Given the description of an element on the screen output the (x, y) to click on. 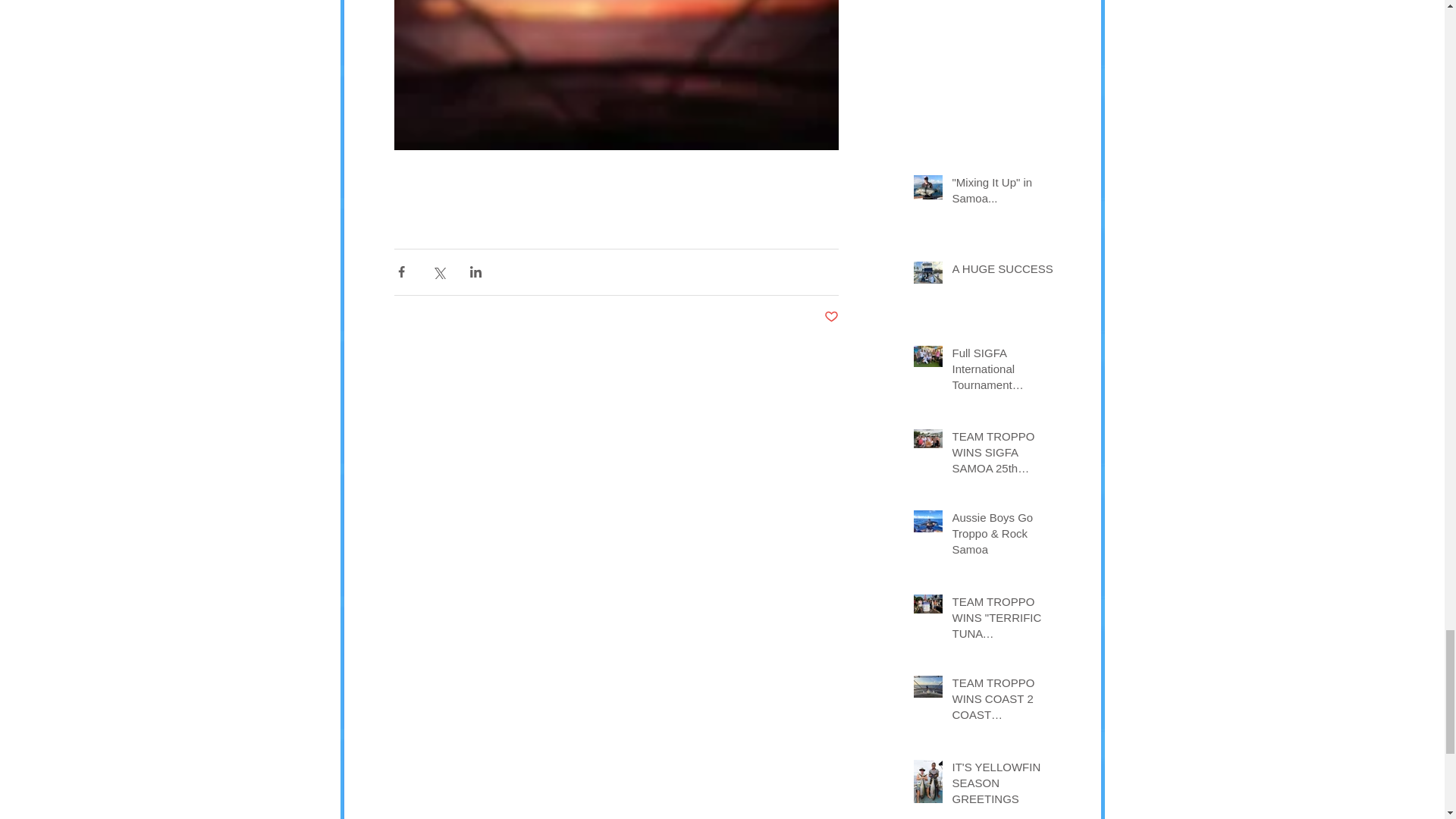
"Mixing It Up" in Samoa... (1006, 193)
Full SIGFA International Tournament Roundup (1006, 371)
TEAM TROPPO WINS COAST 2 COAST TOURNAMENT (1006, 701)
IT'S YELLOWFIN SEASON GREETINGS (1006, 786)
TEAM TROPPO WINS "TERRIFIC TUNA TOURNAMENT" (1006, 620)
A HUGE SUCCESS (1006, 271)
Post not marked as liked (831, 317)
